Given the description of an element on the screen output the (x, y) to click on. 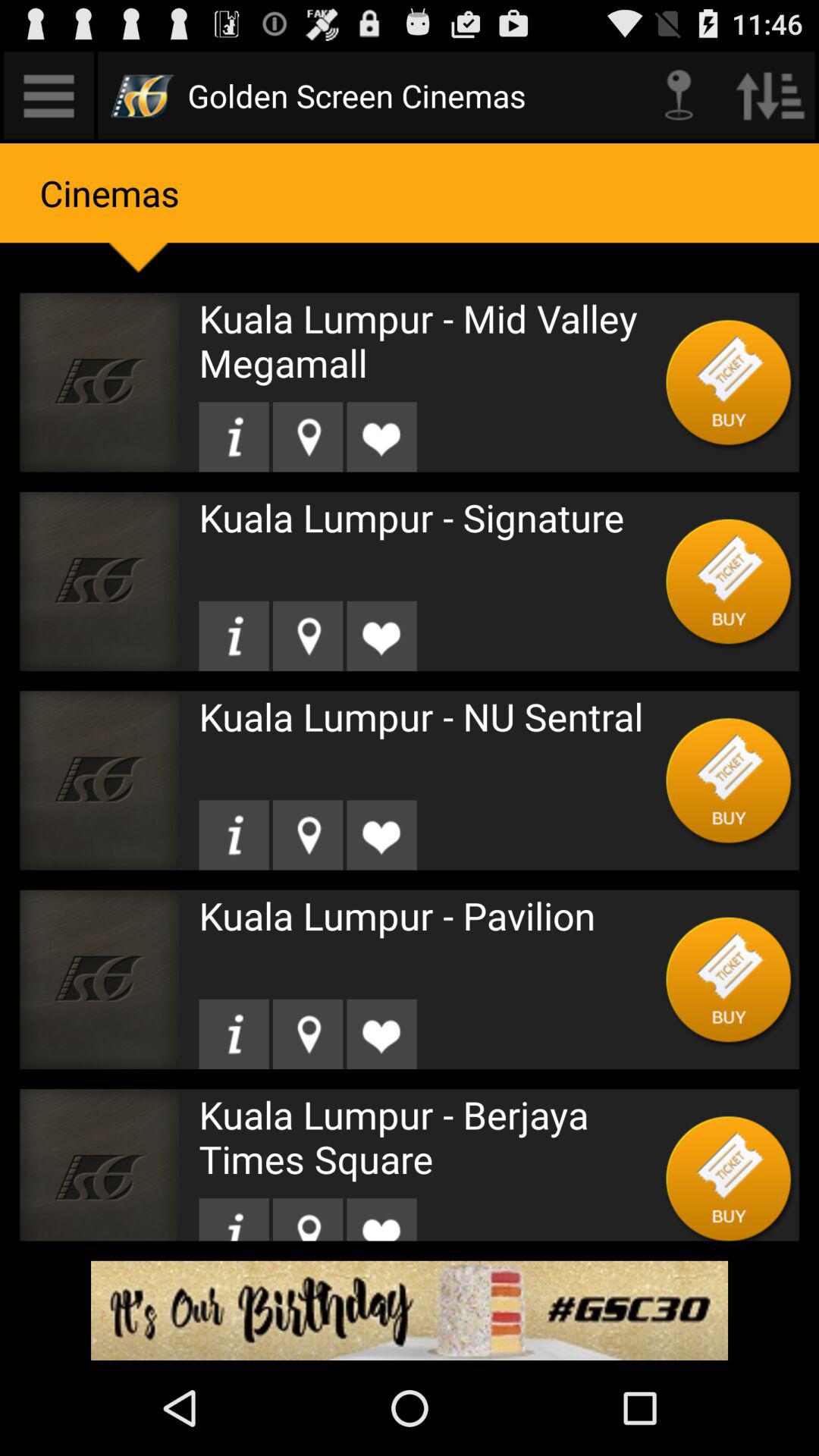
go to location option (307, 835)
